Given the description of an element on the screen output the (x, y) to click on. 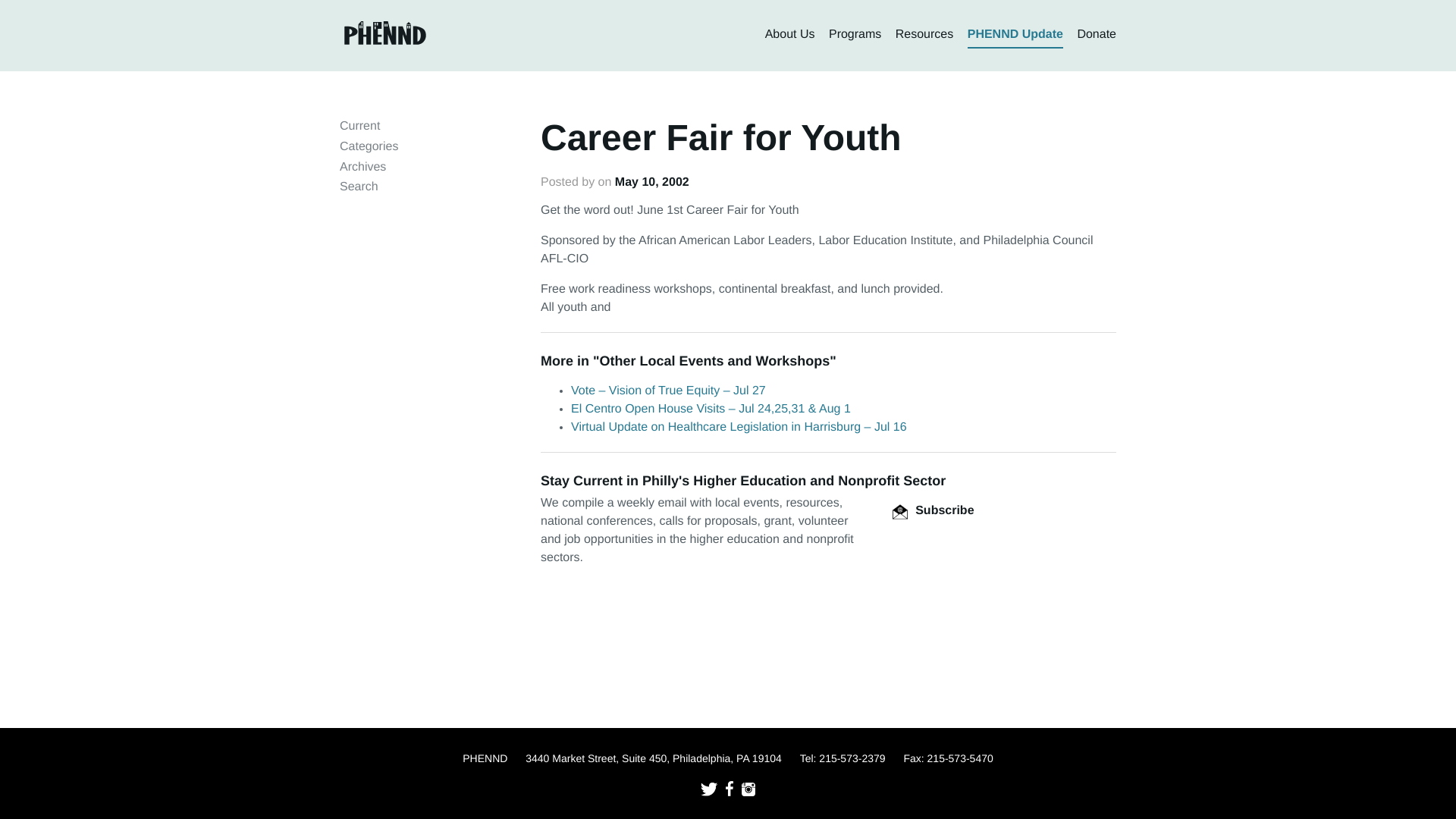
PHENND Update (1015, 35)
Categories (368, 146)
Other Local Events and Workshops (714, 360)
Resources (924, 34)
Current (359, 125)
About Us (790, 34)
Subscribe (933, 510)
Search (358, 186)
May 10, 2002 (651, 182)
Archives (362, 166)
Programs (854, 34)
